Given the description of an element on the screen output the (x, y) to click on. 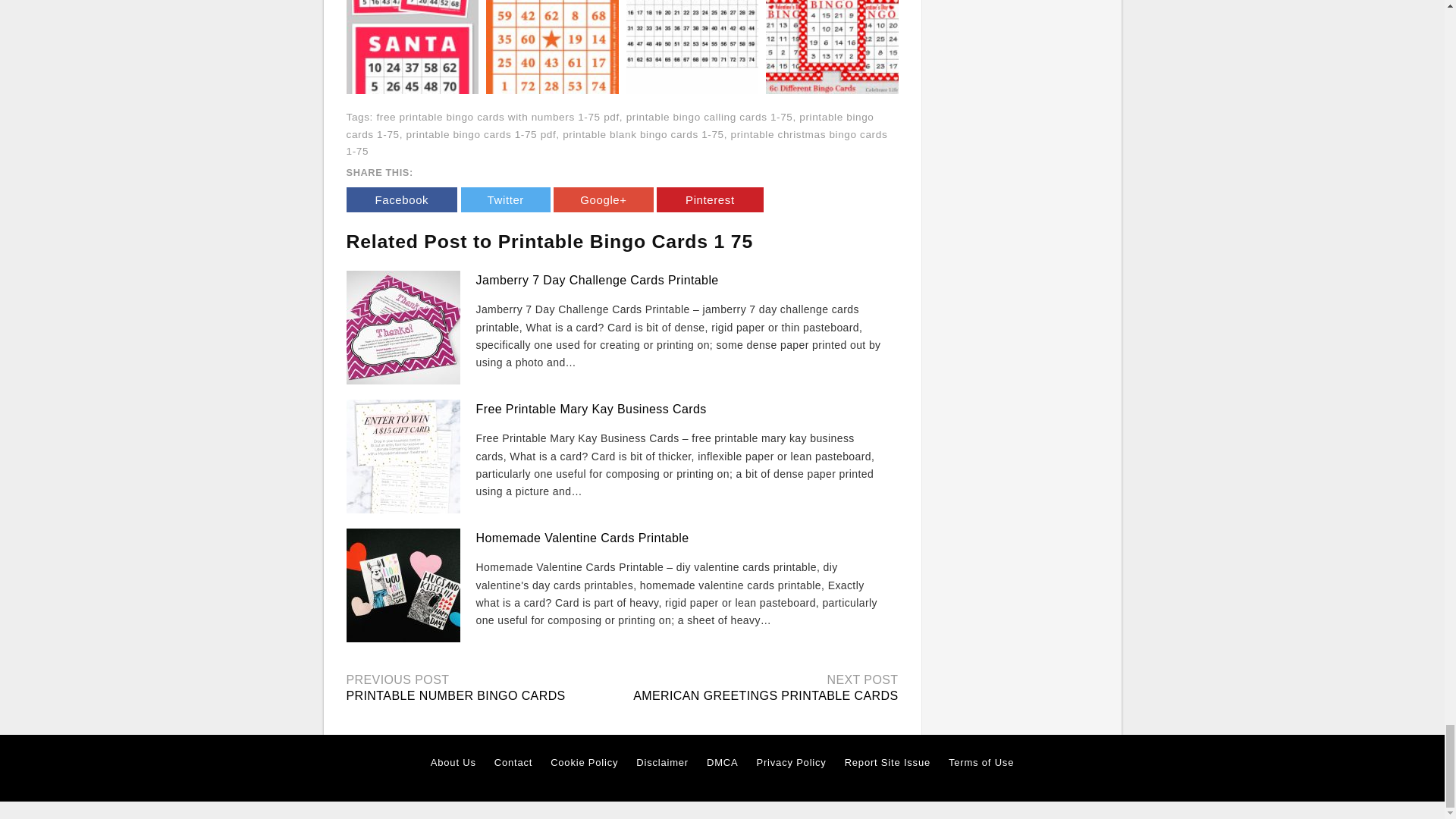
Facebook (401, 199)
printable blank bingo cards 1-75 (642, 134)
printable bingo cards 1-75 (609, 125)
printable bingo cards 1-75 pdf (481, 134)
printable bingo calling cards 1-75 (709, 116)
PRINTABLE NUMBER BINGO CARDS (455, 695)
Twitter (505, 199)
Homemade Valentine Cards Printable (582, 537)
free printable bingo cards with numbers 1-75 pdf (496, 116)
printable christmas bingo cards 1-75 (616, 143)
Pinterest (709, 199)
AMERICAN GREETINGS PRINTABLE CARDS (765, 695)
Jamberry 7 Day Challenge Cards Printable (597, 279)
Free Printable Mary Kay Business Cards (591, 408)
